Given the description of an element on the screen output the (x, y) to click on. 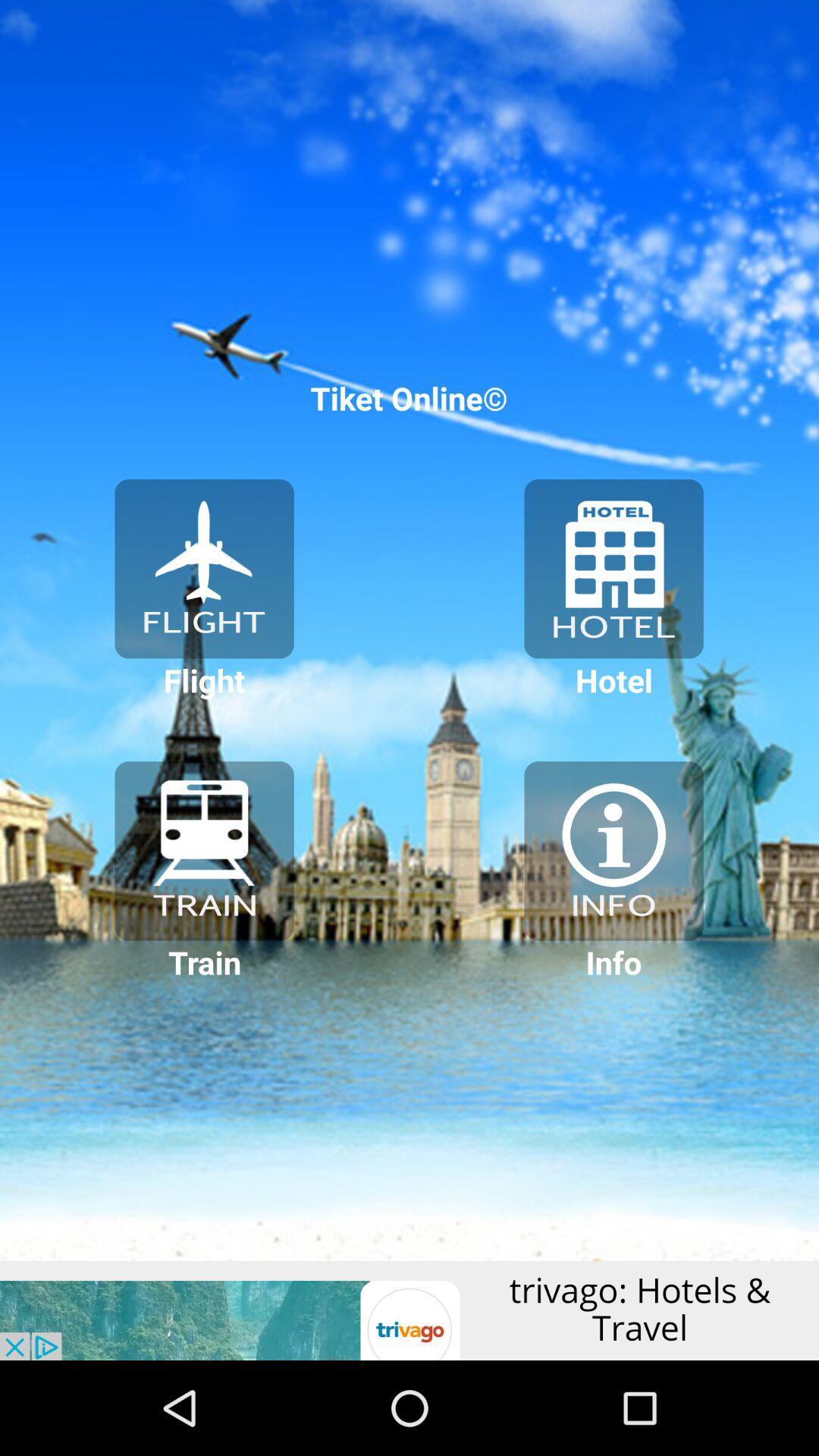
info (613, 850)
